Given the description of an element on the screen output the (x, y) to click on. 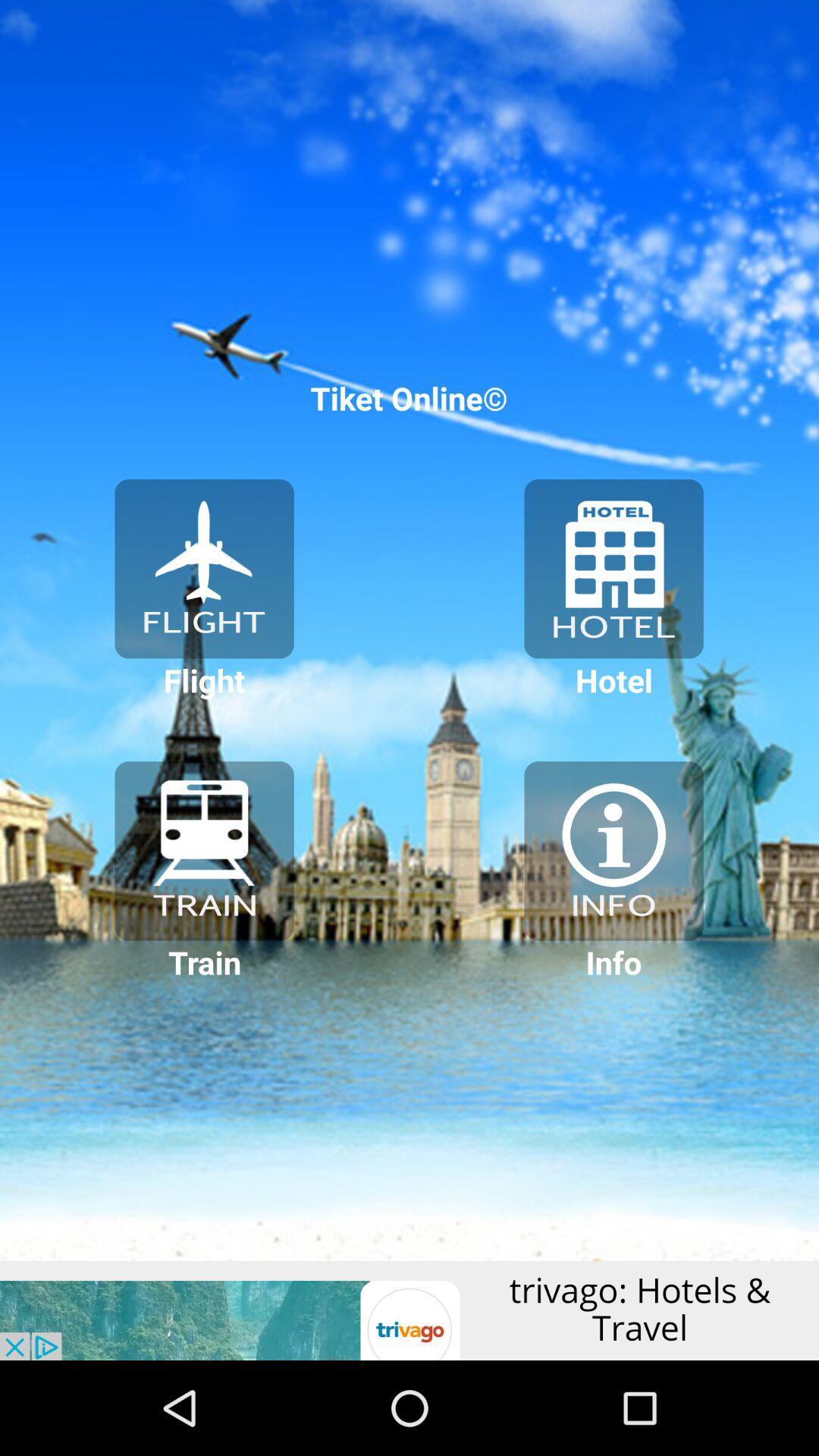
info (613, 850)
